Given the description of an element on the screen output the (x, y) to click on. 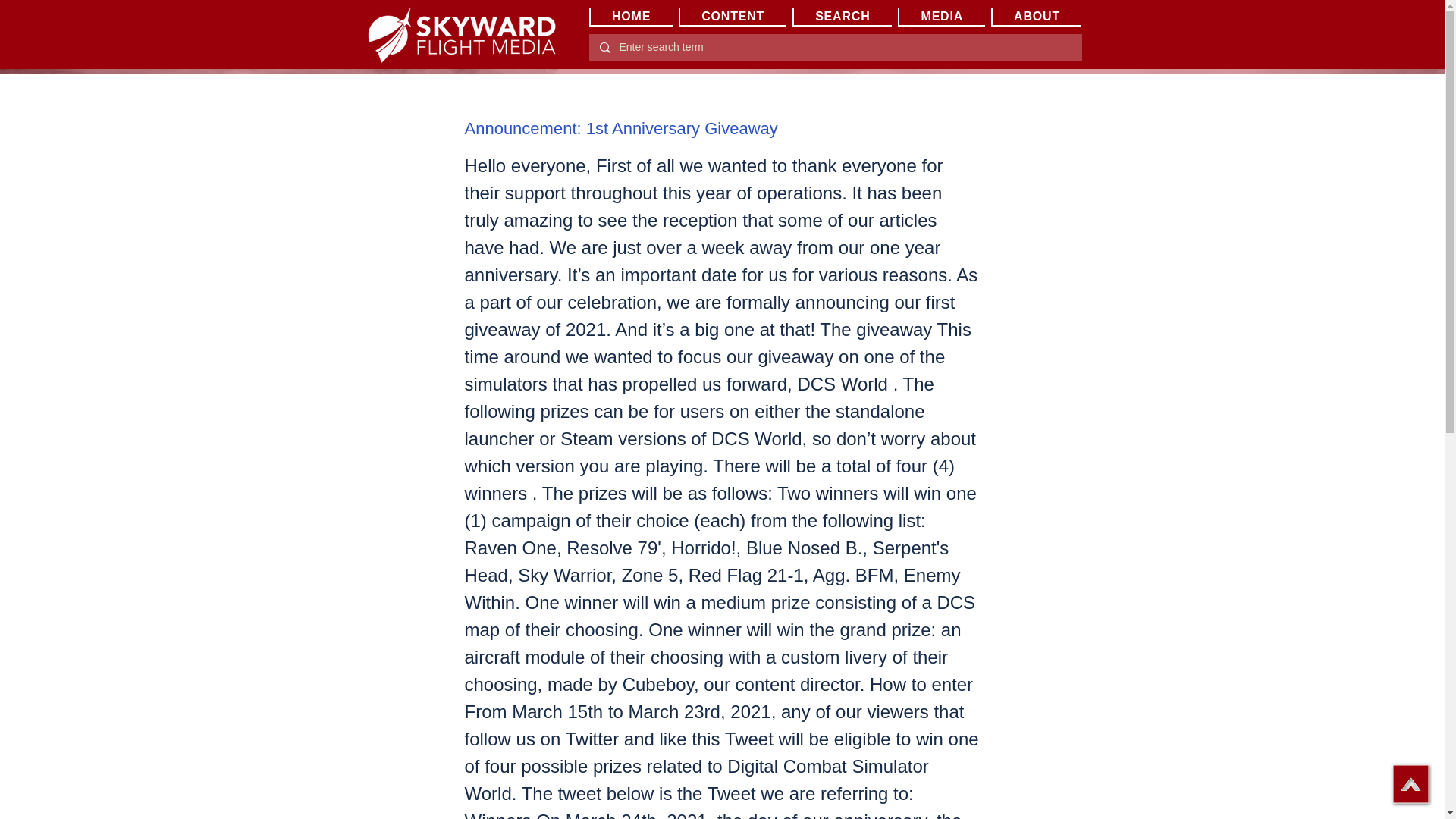
SEARCH (841, 17)
CONTENT (732, 17)
ABOUT (1036, 17)
HOME (629, 17)
